Given the description of an element on the screen output the (x, y) to click on. 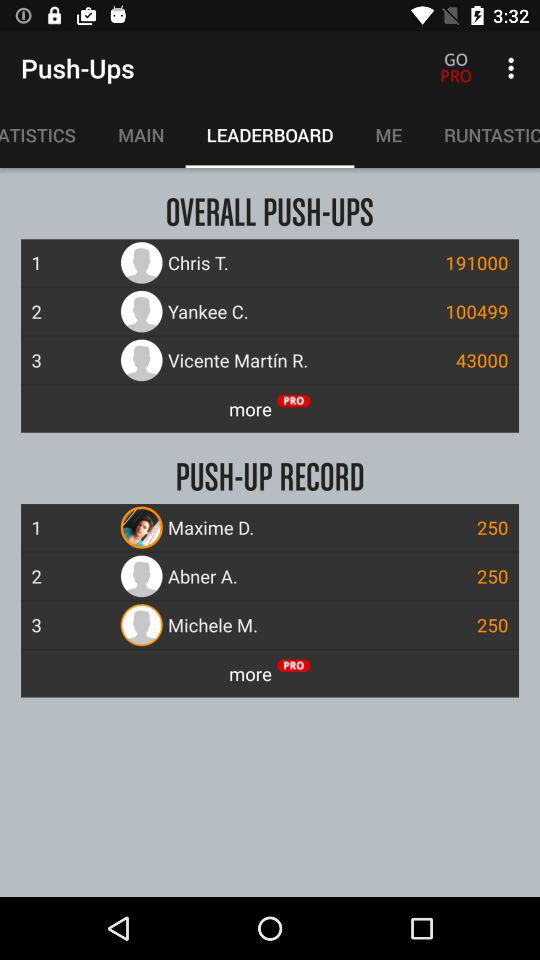
turn off icon to the left of the main item (48, 135)
